Given the description of an element on the screen output the (x, y) to click on. 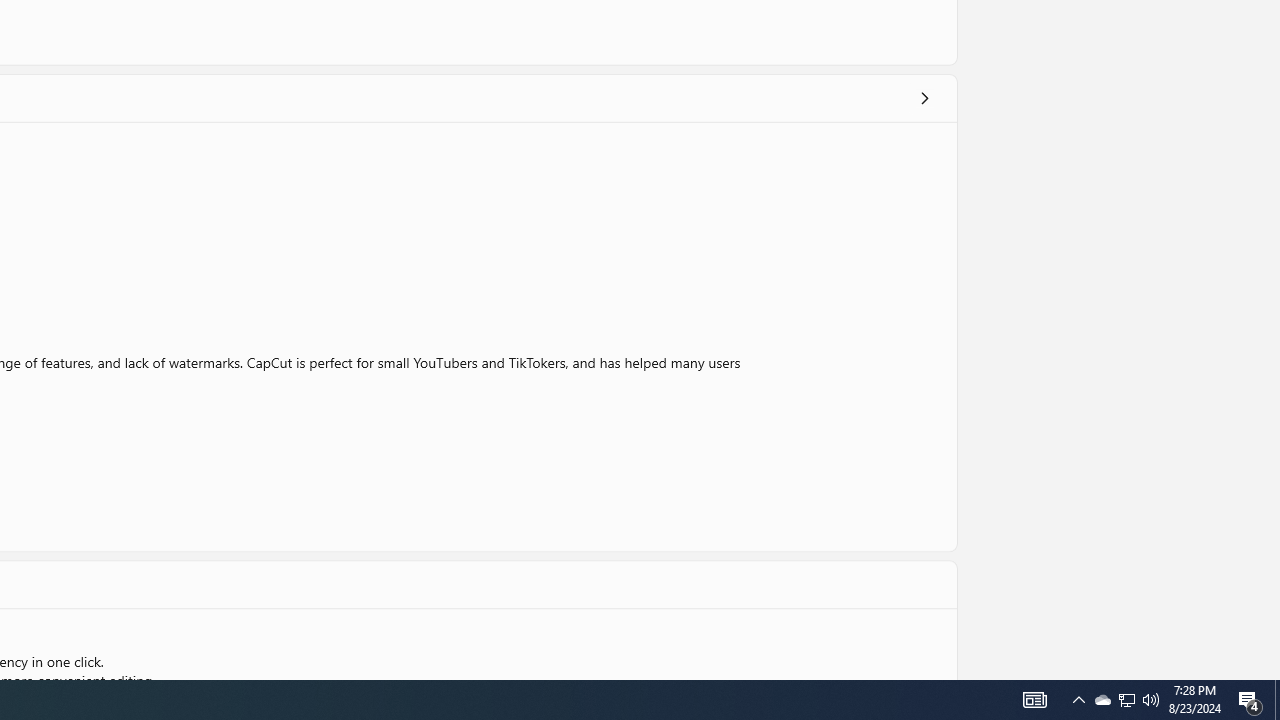
Show all ratings and reviews (924, 97)
